Given the description of an element on the screen output the (x, y) to click on. 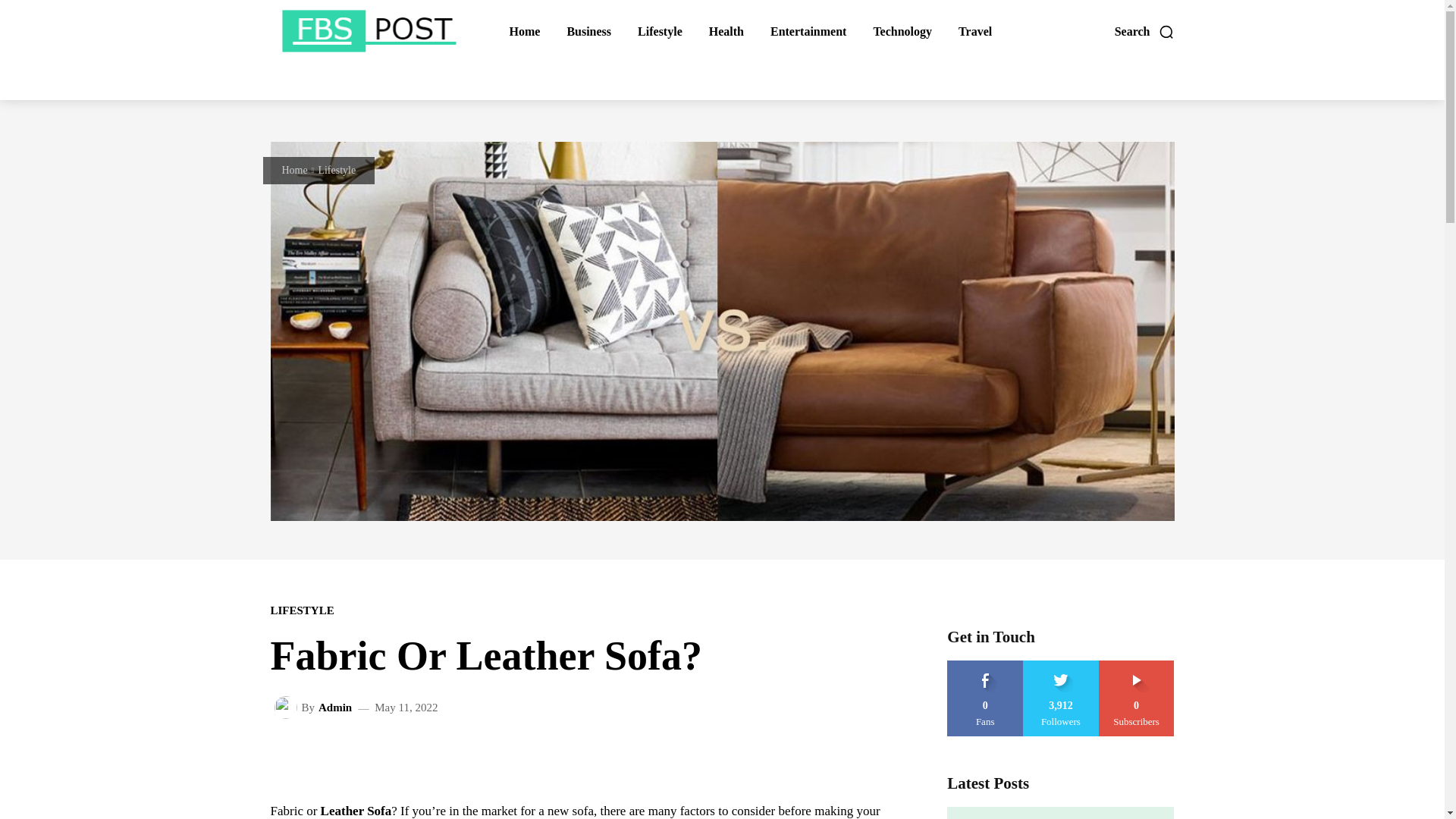
Entertainment (808, 31)
Search (1144, 31)
View all posts in Lifestyle (336, 170)
Technology (902, 31)
Home (294, 170)
Admin (288, 707)
